Given the description of an element on the screen output the (x, y) to click on. 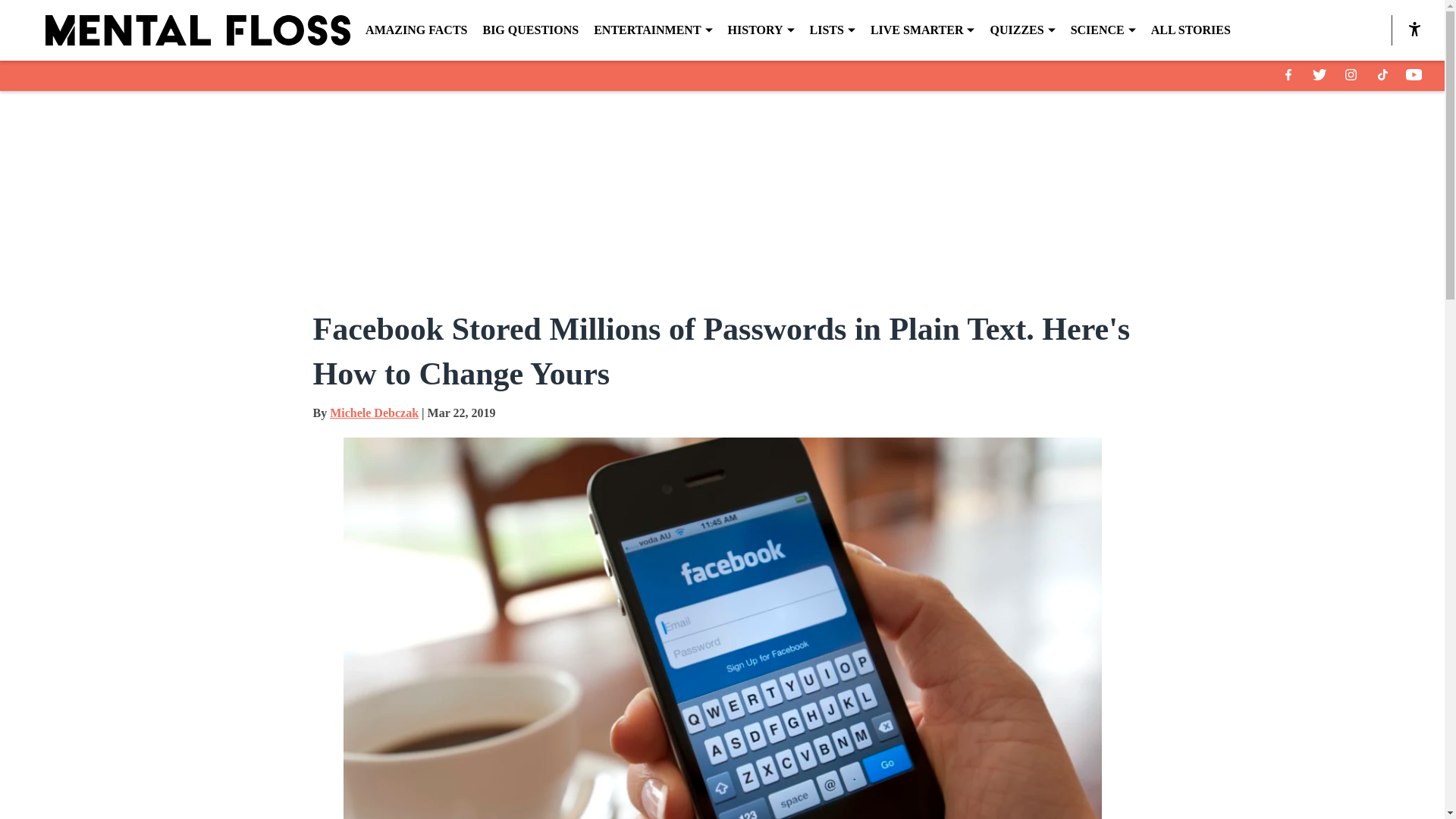
BIG QUESTIONS (529, 30)
AMAZING FACTS (416, 30)
ALL STORIES (1190, 30)
